Given the description of an element on the screen output the (x, y) to click on. 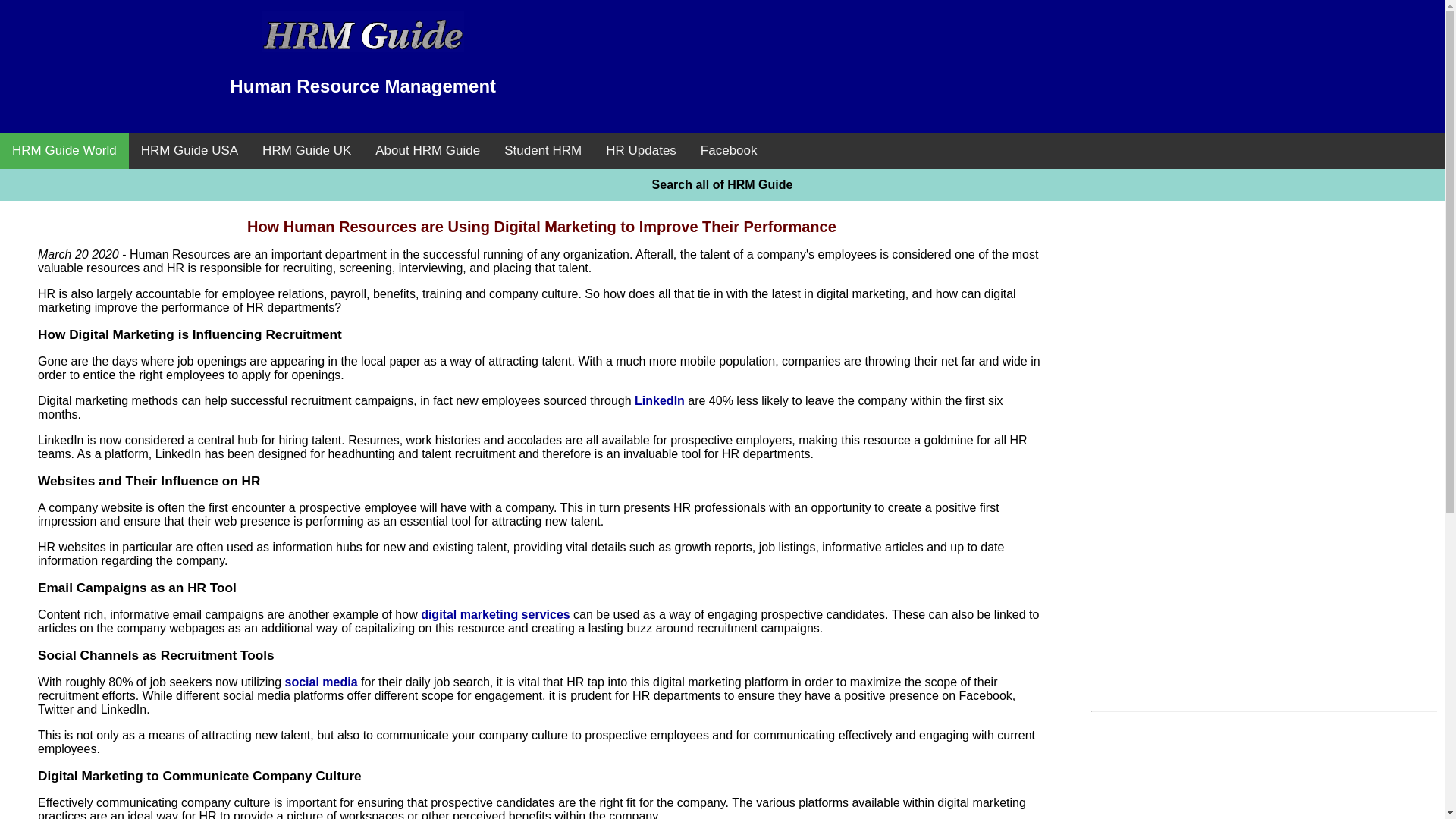
digital marketing services (495, 614)
HRM Guide UK (306, 150)
HRM Guide USA (189, 150)
social media (321, 681)
About HRM Guide (427, 150)
Student HRM (543, 150)
HRM Guide World (64, 150)
LinkedIn (659, 400)
Facebook (729, 150)
HR Updates (641, 150)
